Given the description of an element on the screen output the (x, y) to click on. 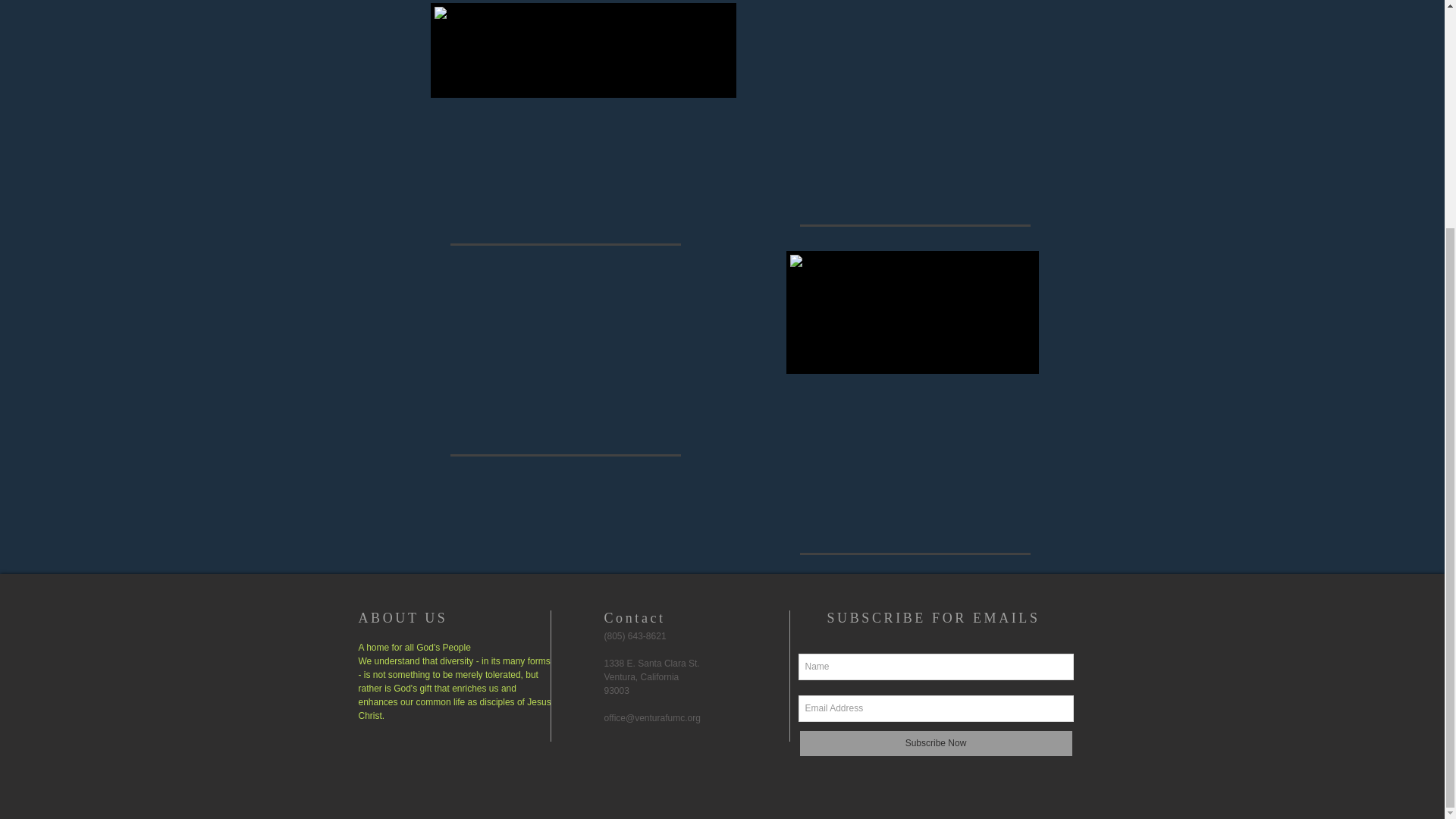
Subscribe Now (935, 743)
